Given the description of an element on the screen output the (x, y) to click on. 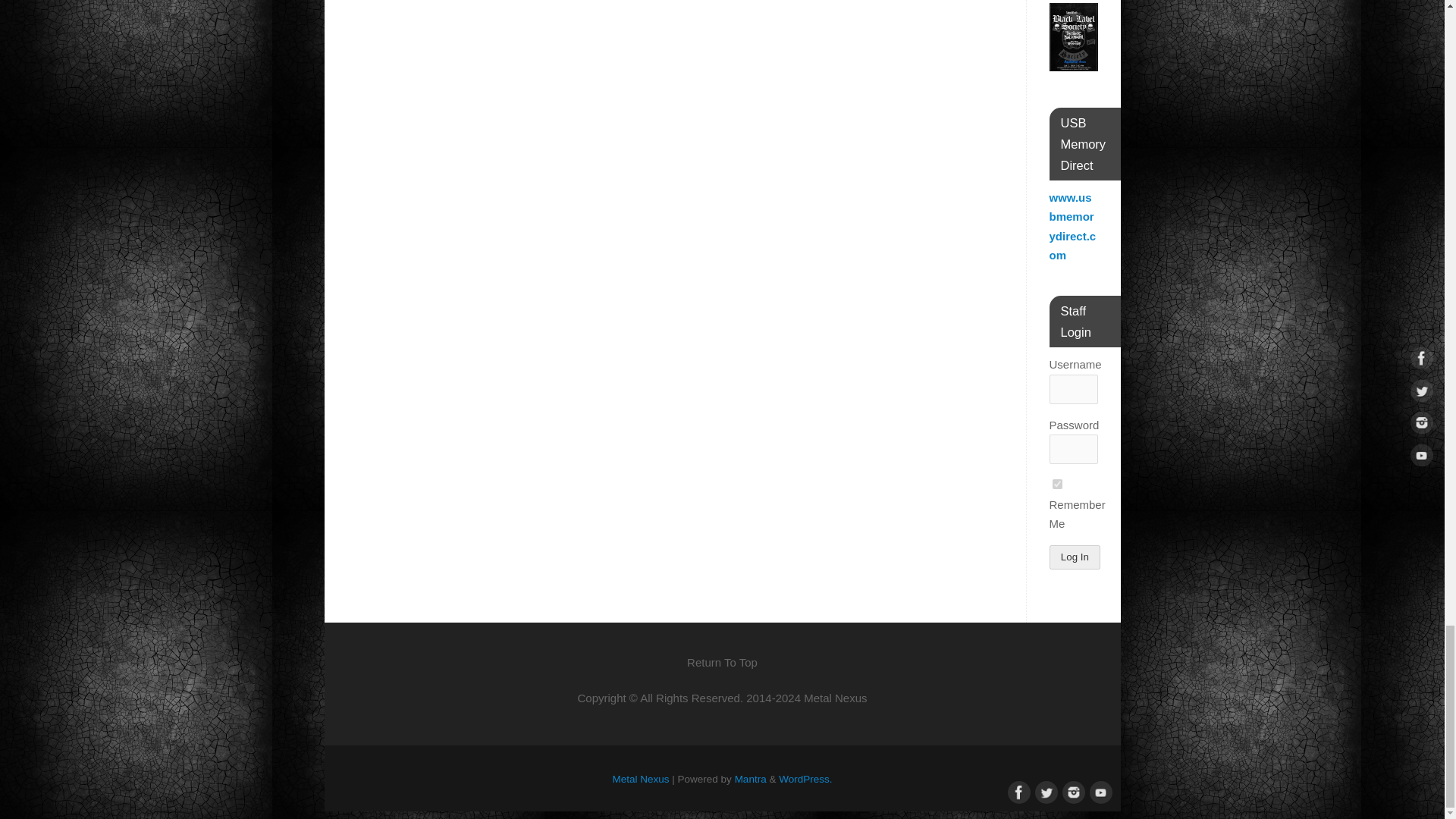
Facebook (1016, 790)
Metal Nexus (640, 778)
Semantic Personal Publishing Platform (804, 778)
Twitter (1043, 790)
Instagram (1071, 790)
Mantra Theme by Cryout Creations (751, 778)
forever (1057, 483)
Log In (1074, 557)
